Given the description of an element on the screen output the (x, y) to click on. 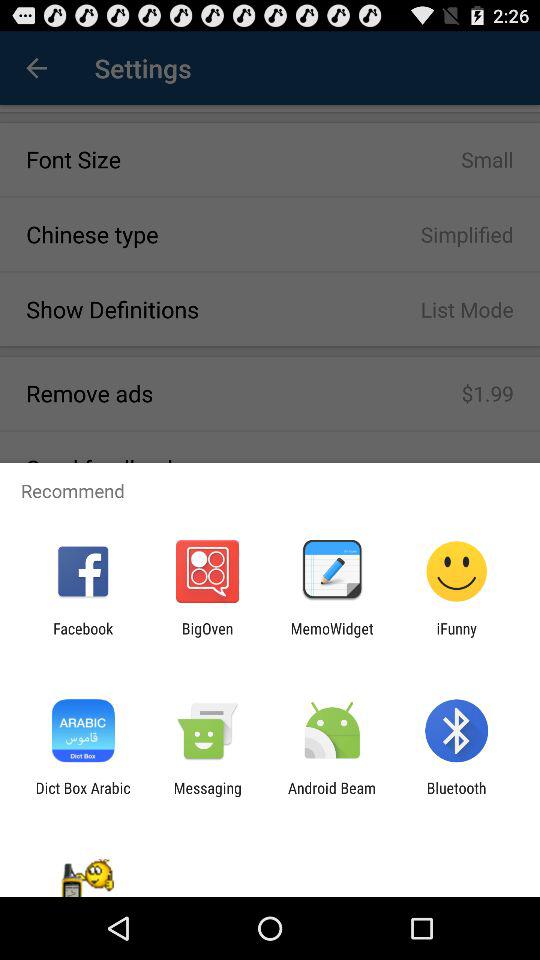
turn off app to the left of ifunny icon (331, 637)
